Given the description of an element on the screen output the (x, y) to click on. 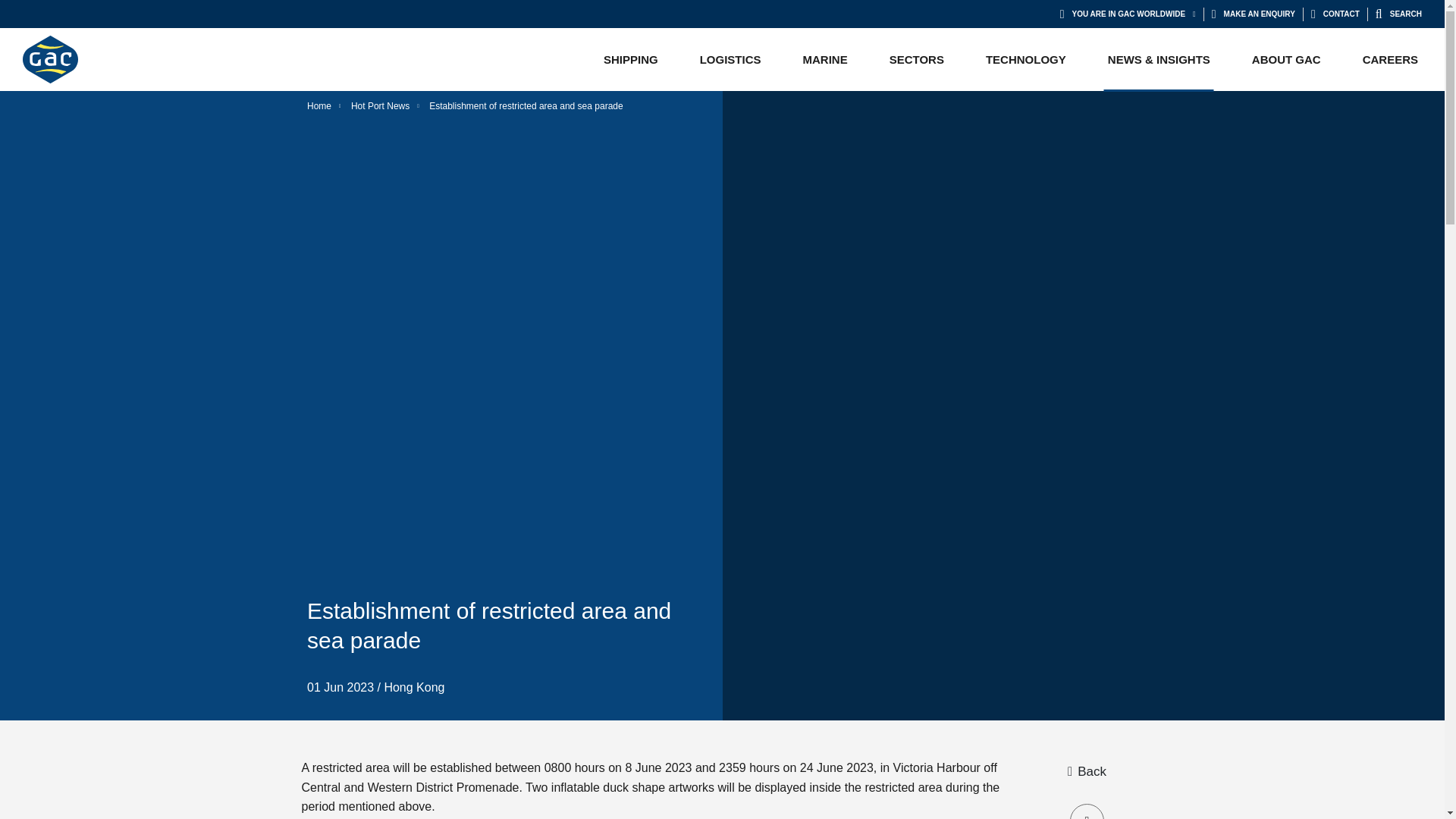
LOGISTICS (730, 59)
CONTACT (1335, 14)
YOU ARE IN GAC WORLDWIDE (1127, 14)
MARINE (825, 59)
SECTORS (916, 59)
MAKE AN ENQUIRY (1253, 14)
SEARCH (1398, 14)
SHIPPING (630, 59)
